Given the description of an element on the screen output the (x, y) to click on. 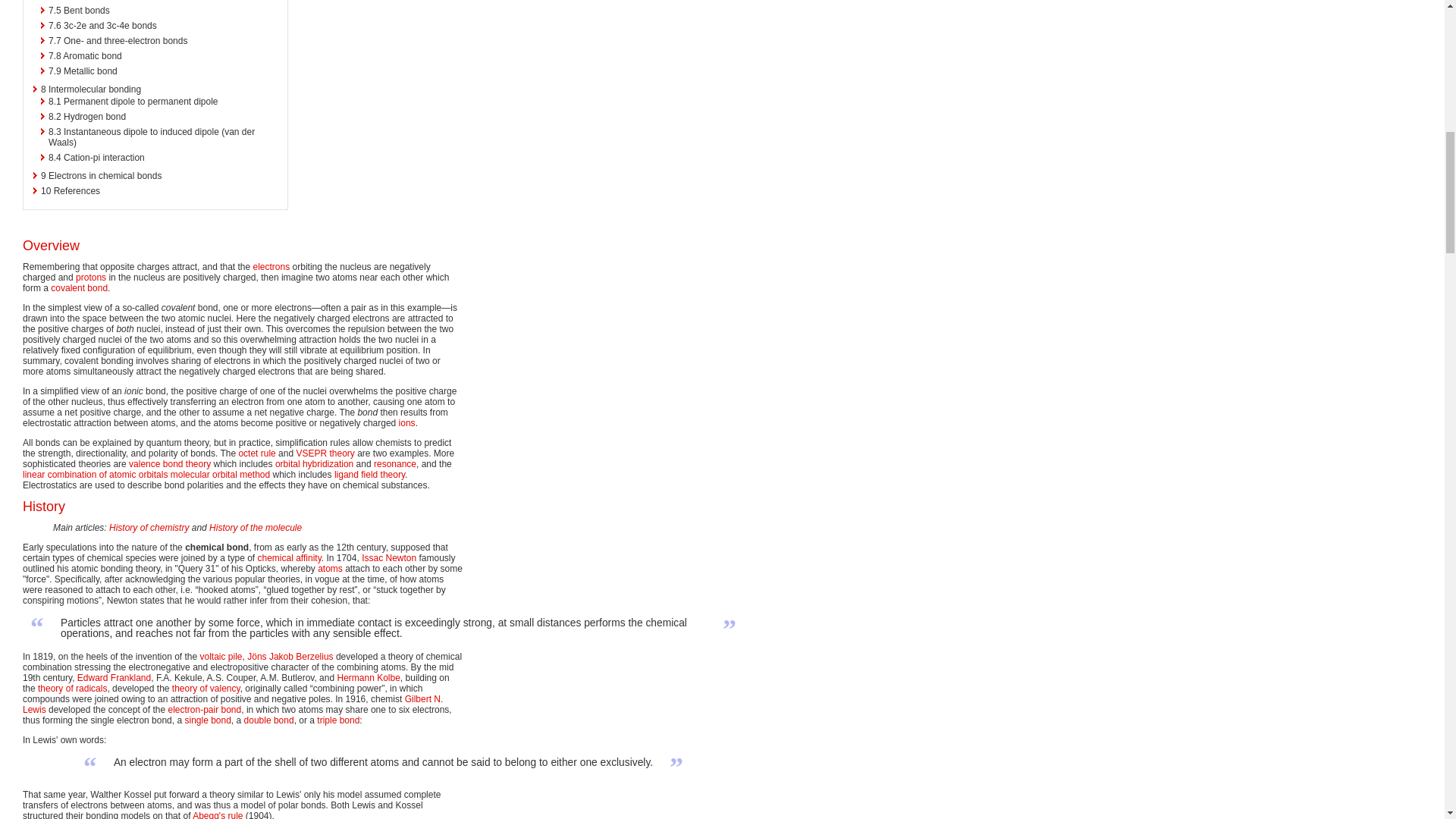
Protons (90, 276)
Electrons (271, 266)
Covalent bond (78, 287)
